Given the description of an element on the screen output the (x, y) to click on. 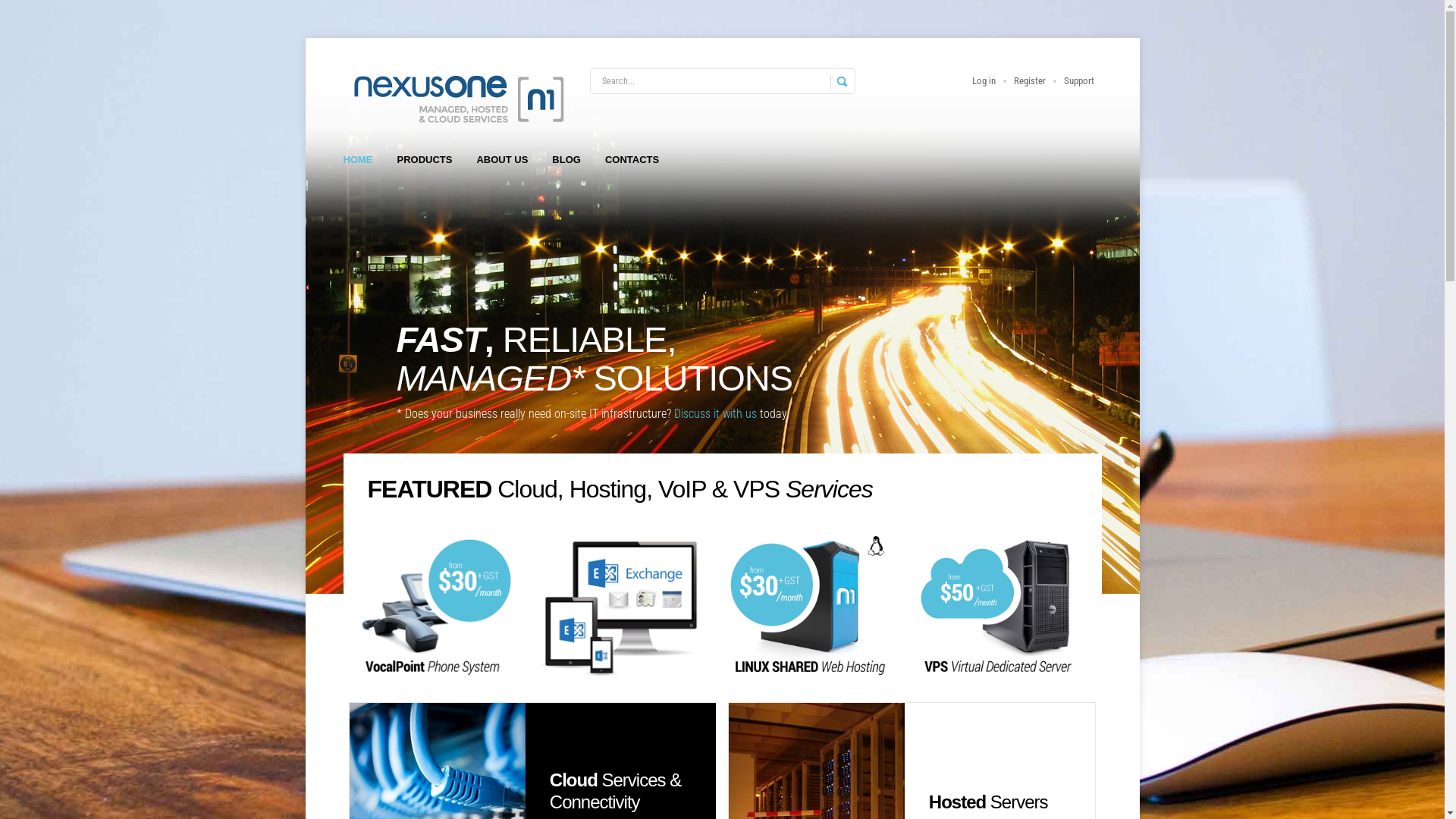
Support Element type: text (1078, 80)
MORE DETAILS Element type: text (958, 571)
MORE DETAILS Element type: text (578, 744)
ABOUT US Element type: text (501, 159)
CONTACTS Element type: text (632, 159)
Register Element type: text (1028, 80)
PRODUCTS Element type: text (424, 159)
MORE DETAILS Element type: text (578, 571)
Log in Element type: text (983, 80)
BLOG Element type: text (566, 159)
HOME Element type: text (357, 159)
Slide 2 Element type: hover (721, 315)
Nexus One Element type: text (456, 97)
MORE DETAILS Element type: text (958, 744)
